Given the description of an element on the screen output the (x, y) to click on. 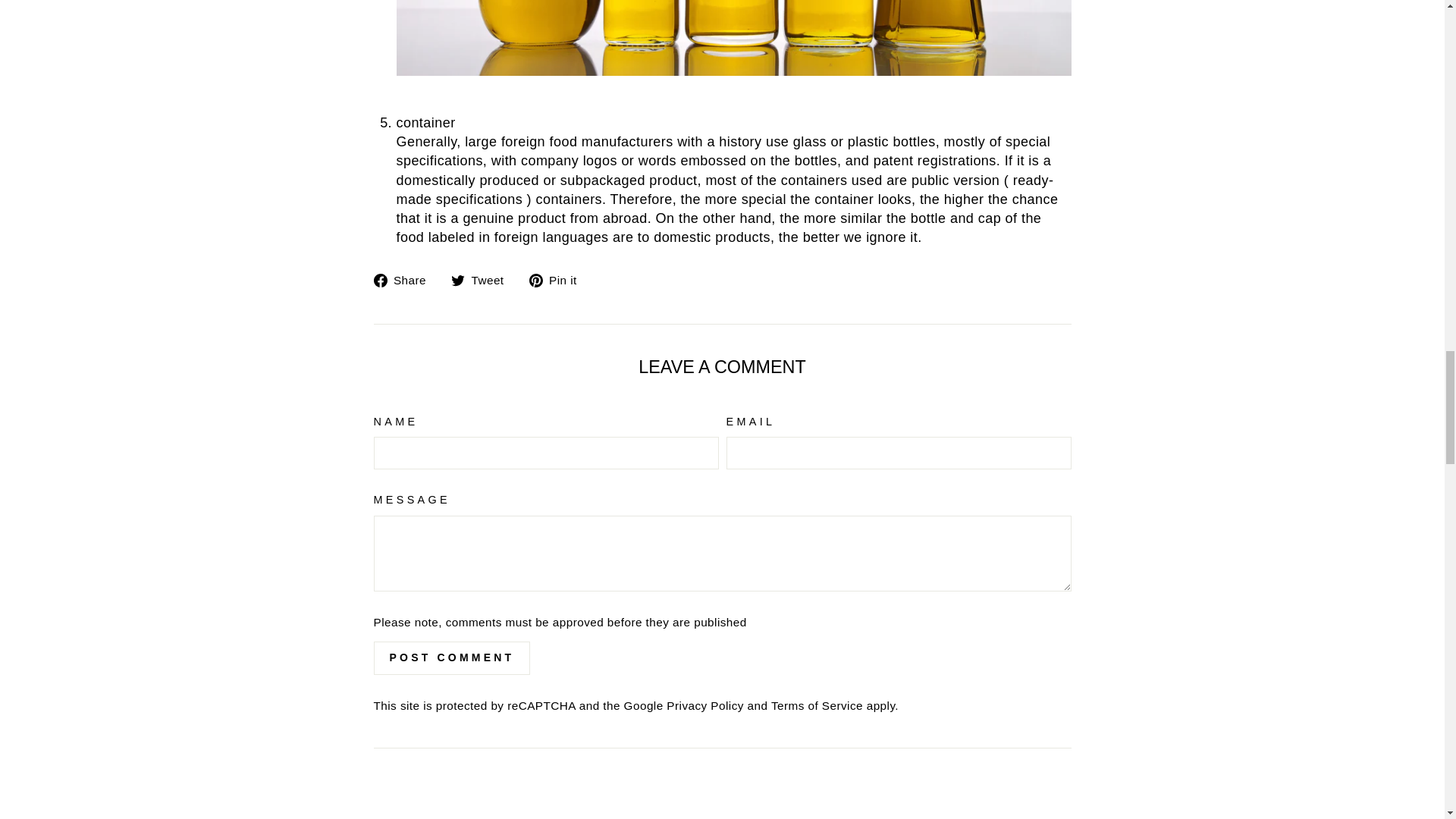
twitter (457, 280)
Pin on Pinterest (558, 279)
Tweet on Twitter (483, 279)
Share on Facebook (405, 279)
